Given the description of an element on the screen output the (x, y) to click on. 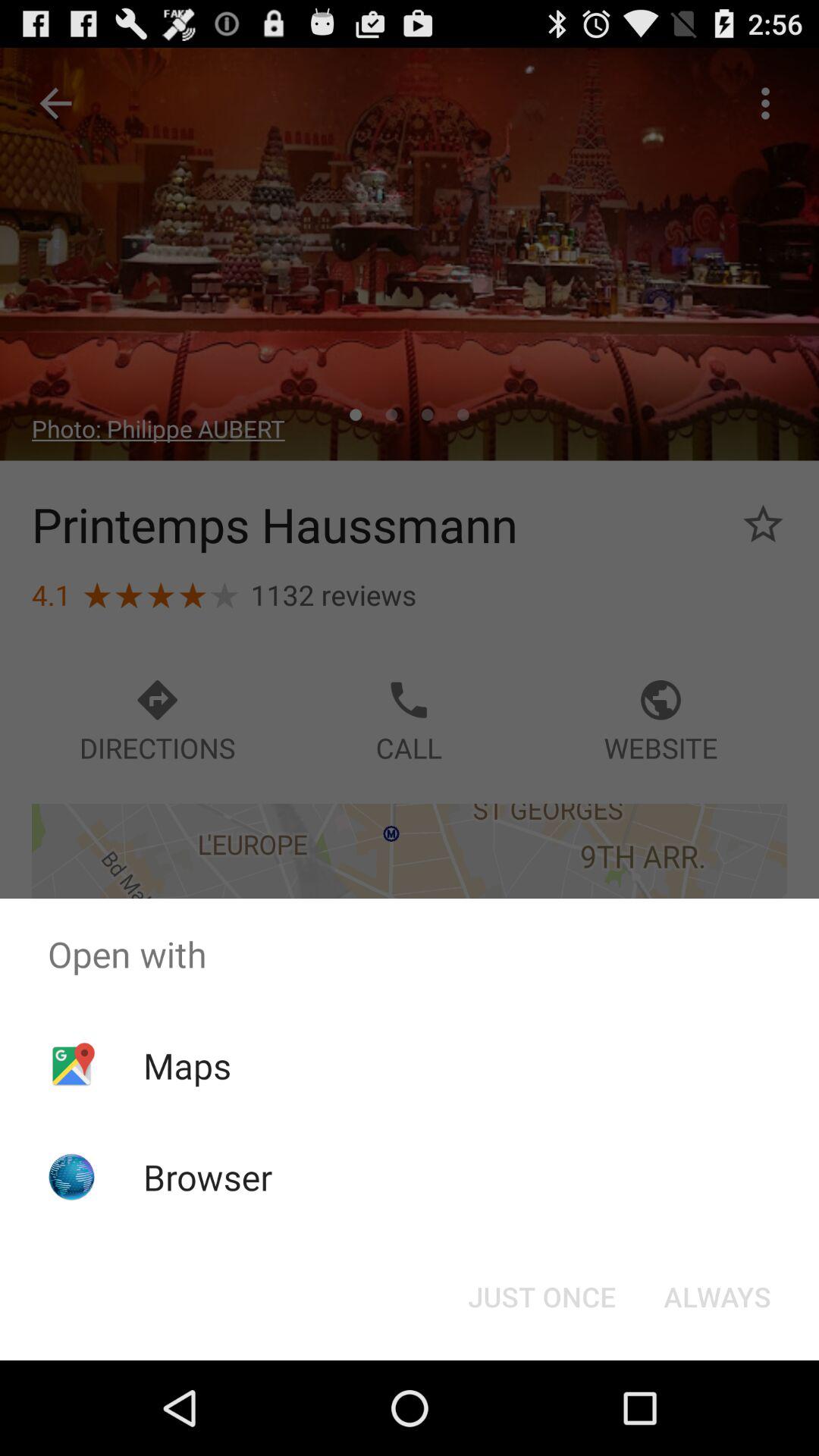
scroll to always item (717, 1296)
